Given the description of an element on the screen output the (x, y) to click on. 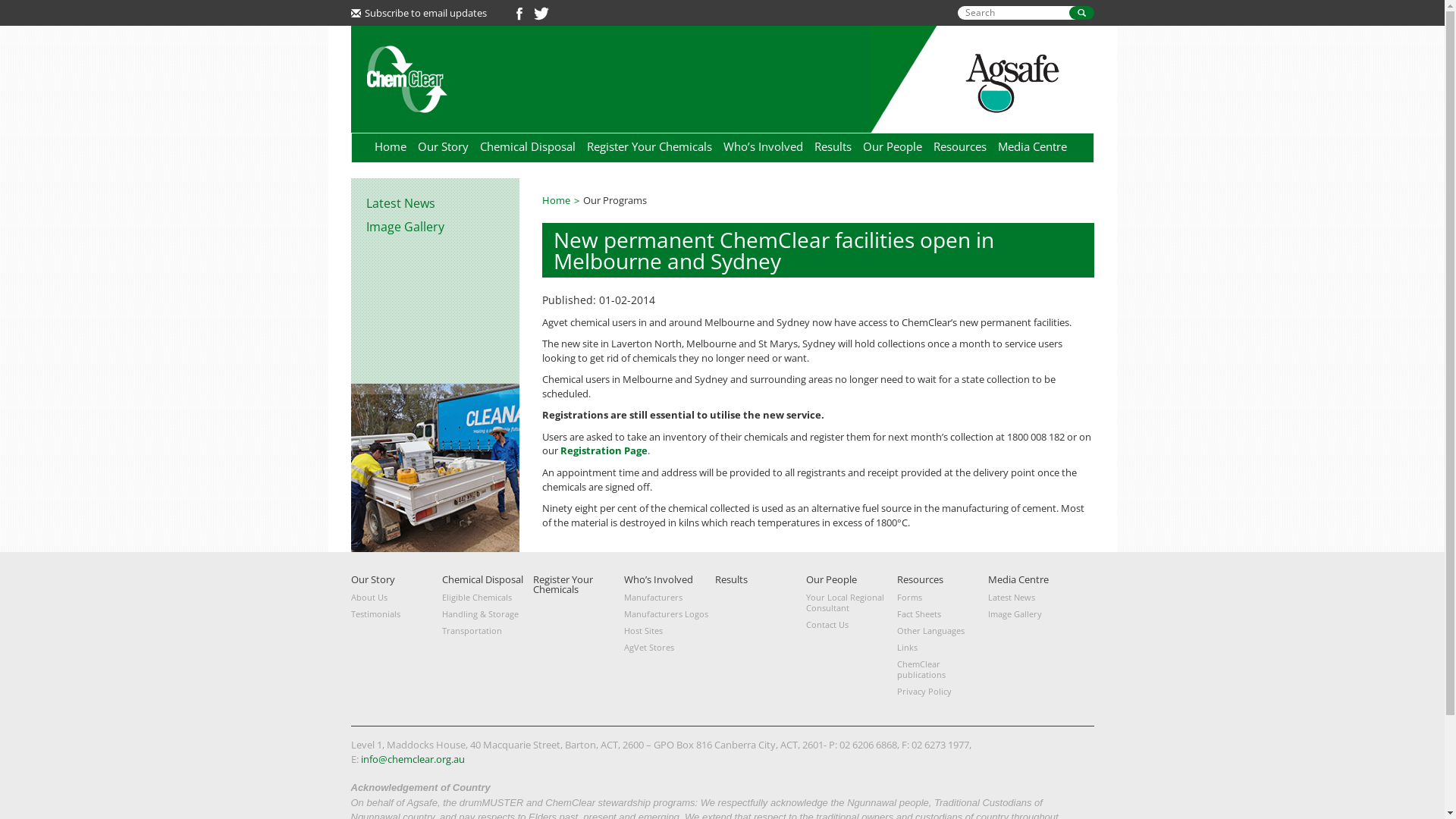
AgVet Stores Element type: text (668, 647)
Our People Element type: text (830, 579)
Eligible Chemicals Element type: text (486, 597)
Manufacturers Element type: text (668, 597)
Register Your Chemicals Element type: text (562, 584)
Manufacturers Logos Element type: text (668, 613)
Image Gallery Element type: text (1032, 613)
Go back to Home page Element type: hover (405, 77)
Home Element type: text (560, 200)
Registration Page Element type: text (603, 450)
Privacy Policy Element type: text (941, 691)
About Us Element type: text (395, 597)
Media Centre Element type: text (1017, 579)
Our People Element type: text (892, 146)
Our Story Element type: text (372, 579)
ChemClear publications Element type: text (941, 669)
Other Languages Element type: text (941, 630)
Handling & Storage Element type: text (486, 613)
Results Element type: text (730, 579)
Chemical Disposal Element type: text (526, 146)
Contact Us Element type: text (850, 624)
Forms Element type: text (941, 597)
Image Gallery Element type: text (434, 226)
Chemical Disposal Element type: text (481, 579)
Resources Element type: text (958, 146)
Our Story Element type: text (442, 146)
Transportation Element type: text (486, 630)
Fact Sheets Element type: text (941, 613)
info@chemclear.org.au Element type: text (412, 758)
Resources Element type: text (919, 579)
Latest News Element type: text (434, 203)
Register Your Chemicals Element type: text (649, 146)
Host Sites Element type: text (668, 630)
Media Centre Element type: text (1031, 146)
Home Element type: text (390, 146)
Latest News Element type: text (1032, 597)
Results Element type: text (832, 146)
Your Local Regional Consultant Element type: text (850, 602)
Testimonials Element type: text (395, 613)
Links Element type: text (941, 647)
Subscribe to email updates Element type: text (418, 12)
